Given the description of an element on the screen output the (x, y) to click on. 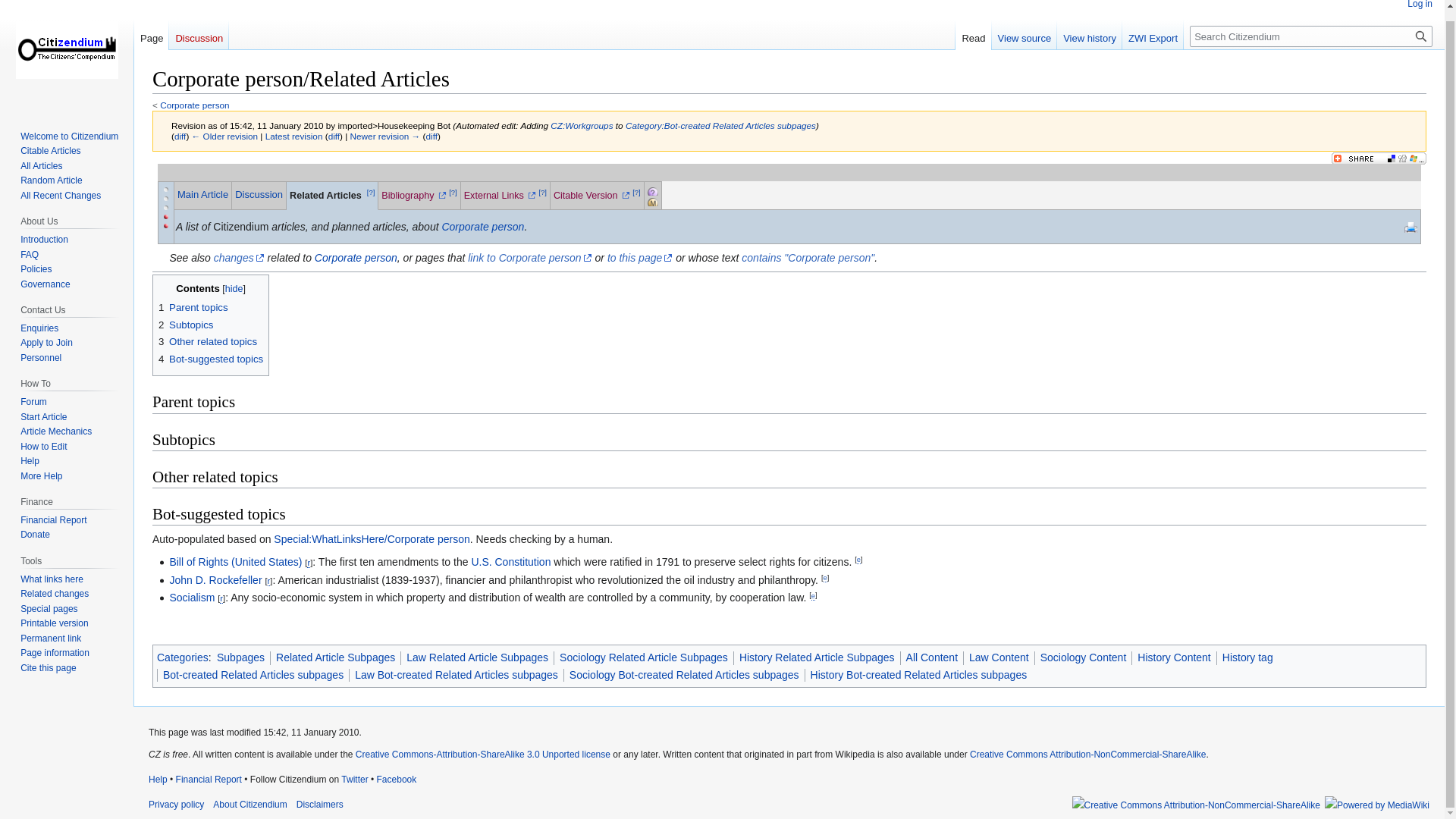
CZ:Workgroups (581, 125)
diff (334, 135)
diff (432, 135)
Talk:Corporate person (258, 194)
Main Article (202, 194)
Latest revision (293, 135)
Category:Bot-created Related Articles subpages (720, 125)
Go To Page (1420, 35)
Category:Bot-created Related Articles subpages (720, 125)
CZ:Subpages (667, 190)
